Given the description of an element on the screen output the (x, y) to click on. 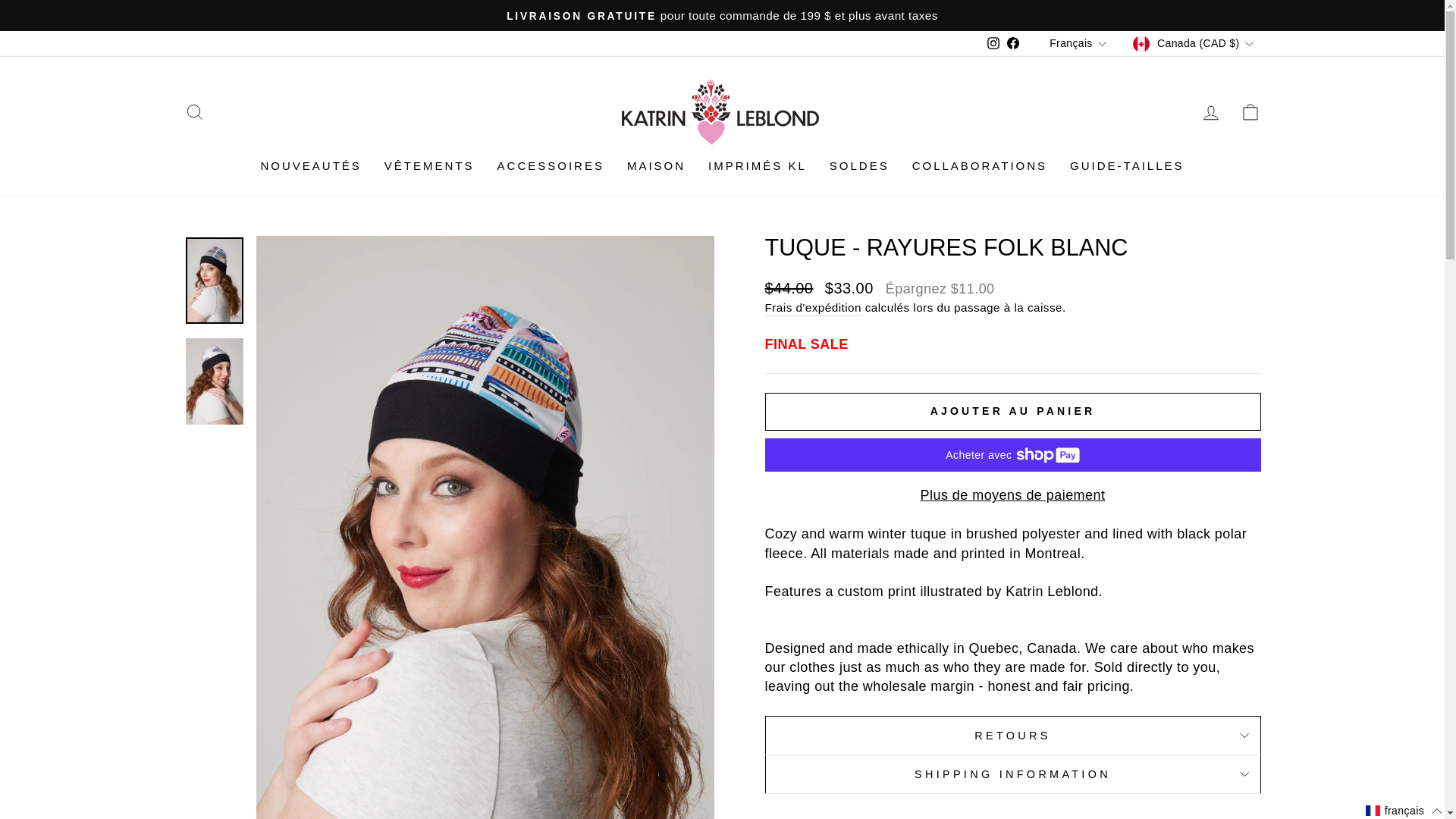
Partager sur Facebook (922, 817)
Tweeter sur Twitter (1013, 817)
